Given the description of an element on the screen output the (x, y) to click on. 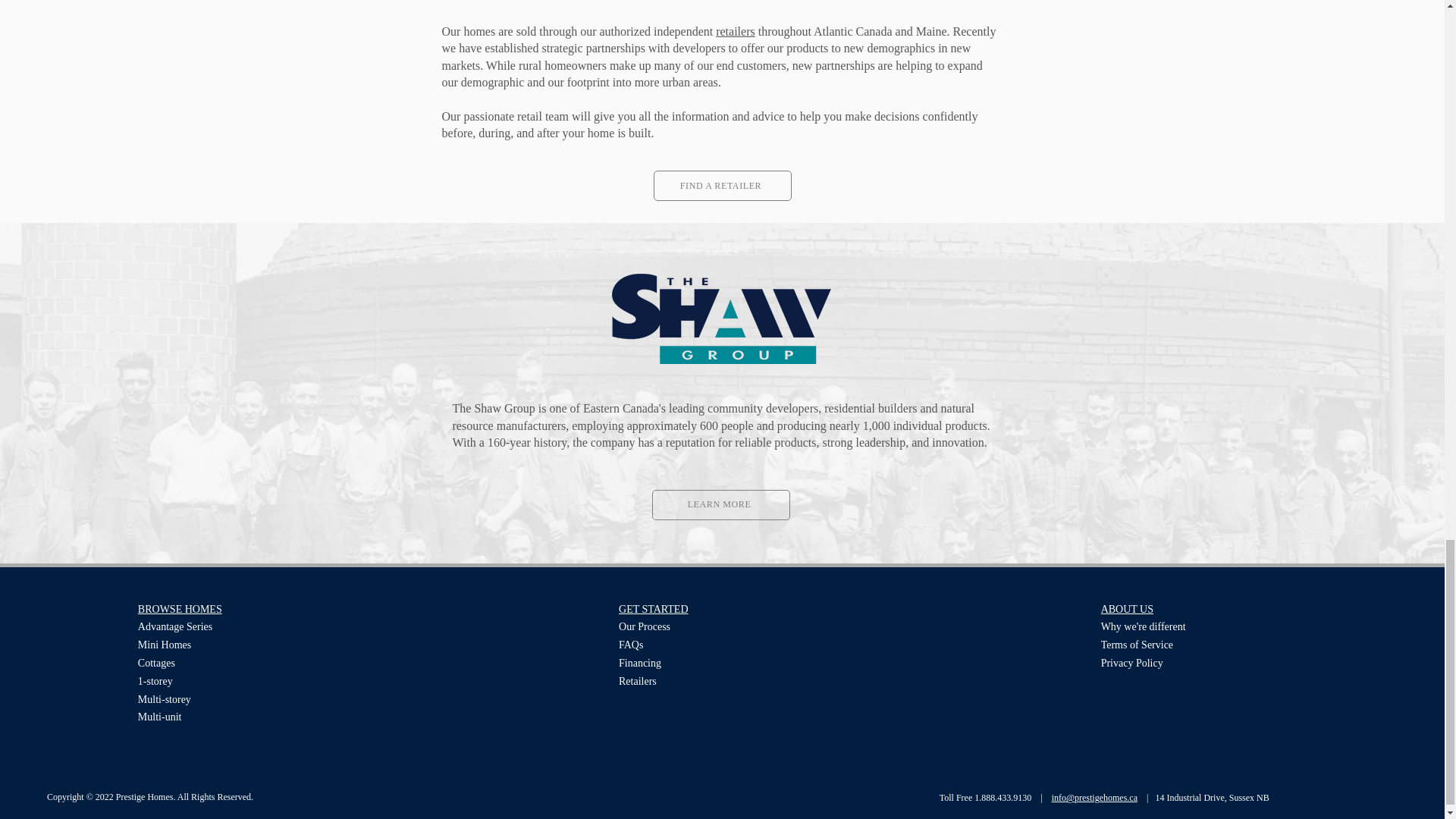
FIND A RETAILER (722, 185)
Our Process (643, 626)
retailers (735, 31)
Advantage Series (175, 626)
Why we're different (1143, 626)
ABOUT US (1126, 609)
Multi-storey (164, 699)
Multi-unit (160, 716)
GET STARTED (653, 609)
1-storey (155, 681)
